Given the description of an element on the screen output the (x, y) to click on. 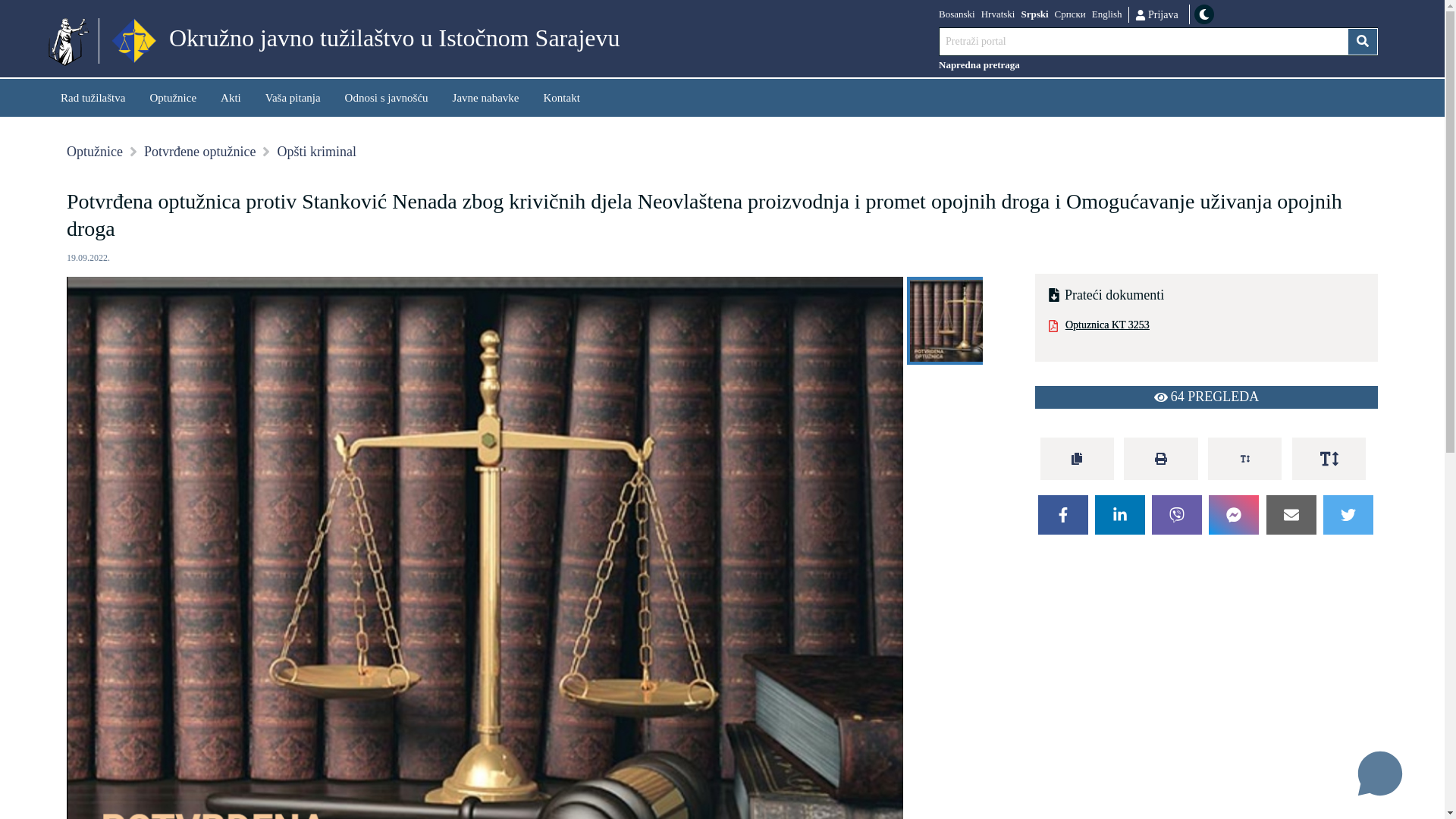
Kontakt Element type: text (560, 97)
Akti Element type: text (230, 97)
Javne nabavke Element type: text (485, 97)
Optuznica KT 3253 Element type: text (1206, 326)
Prijava Element type: text (1155, 13)
Napredna pretraga Element type: text (1157, 65)
